Given the description of an element on the screen output the (x, y) to click on. 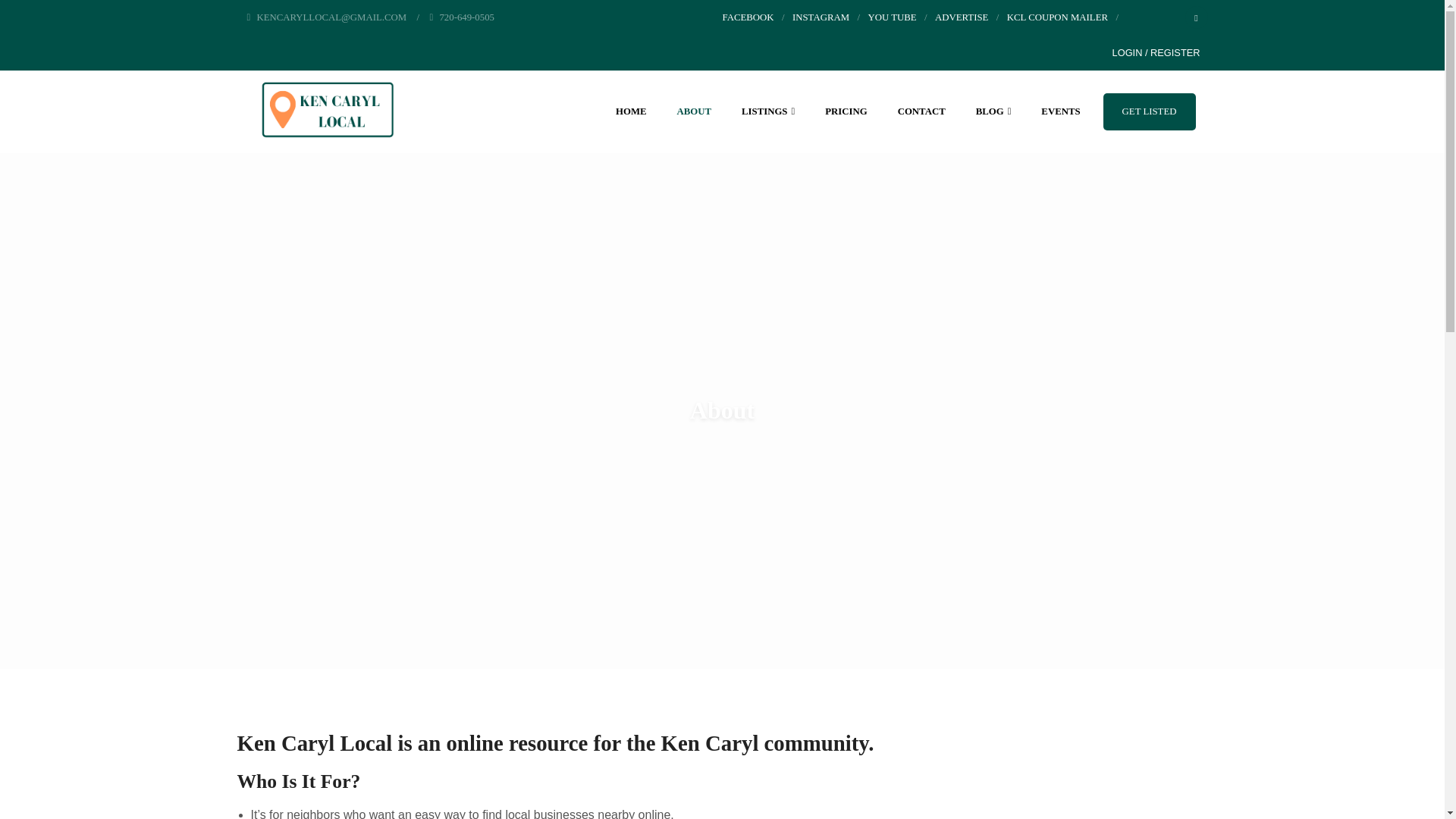
ADVERTISE (961, 17)
YOU TUBE (891, 17)
LISTINGS (767, 111)
FACEBOOK (747, 17)
GET LISTED (1149, 111)
720-649-0505 (461, 17)
EVENTS (1060, 111)
HOME (630, 111)
ABOUT (693, 111)
KCL COUPON MAILER (1057, 17)
BLOG (993, 111)
INSTAGRAM (820, 17)
PRICING (845, 111)
CONTACT (921, 111)
